Given the description of an element on the screen output the (x, y) to click on. 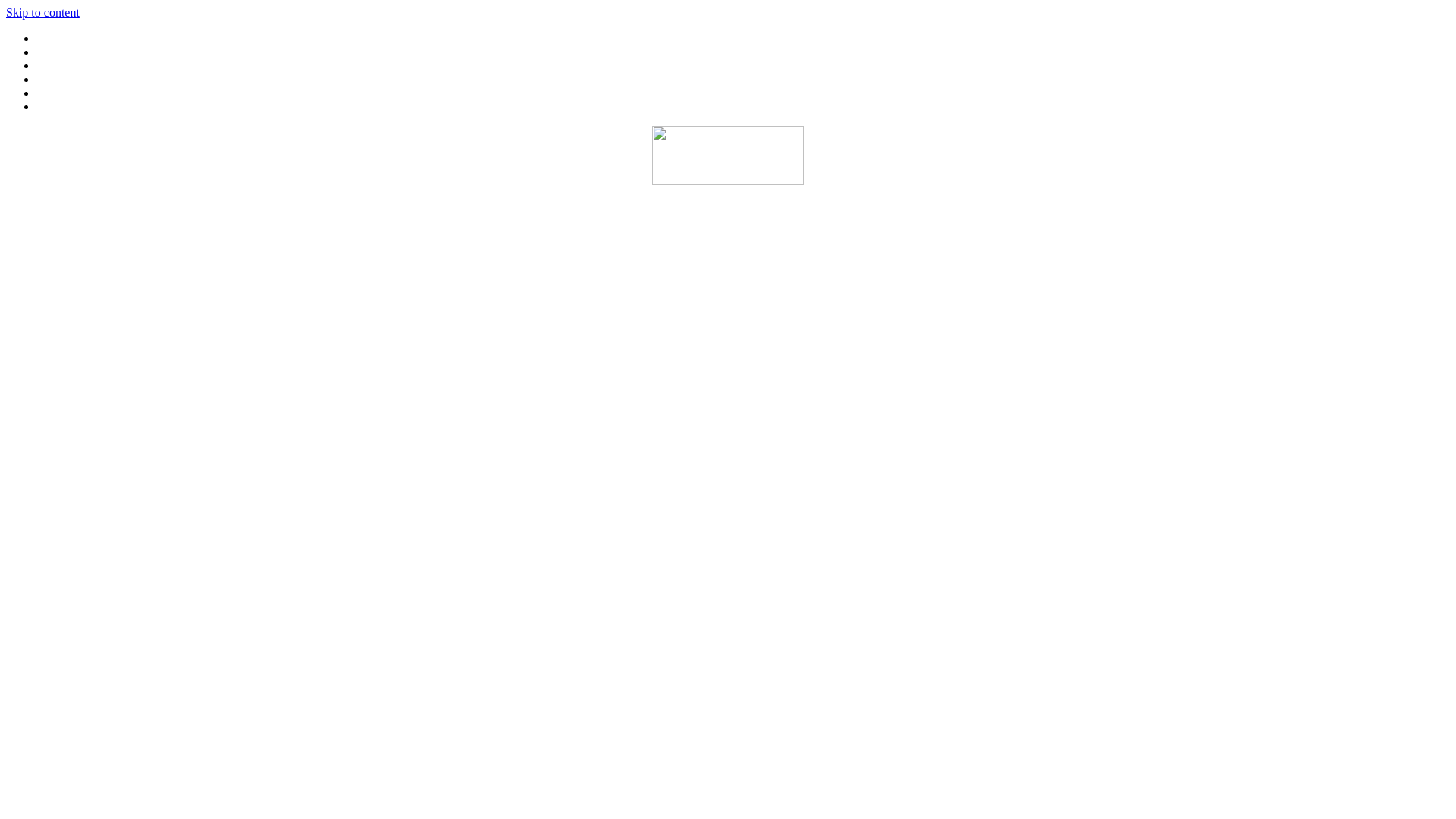
Skip to content Element type: text (42, 12)
